Given the description of an element on the screen output the (x, y) to click on. 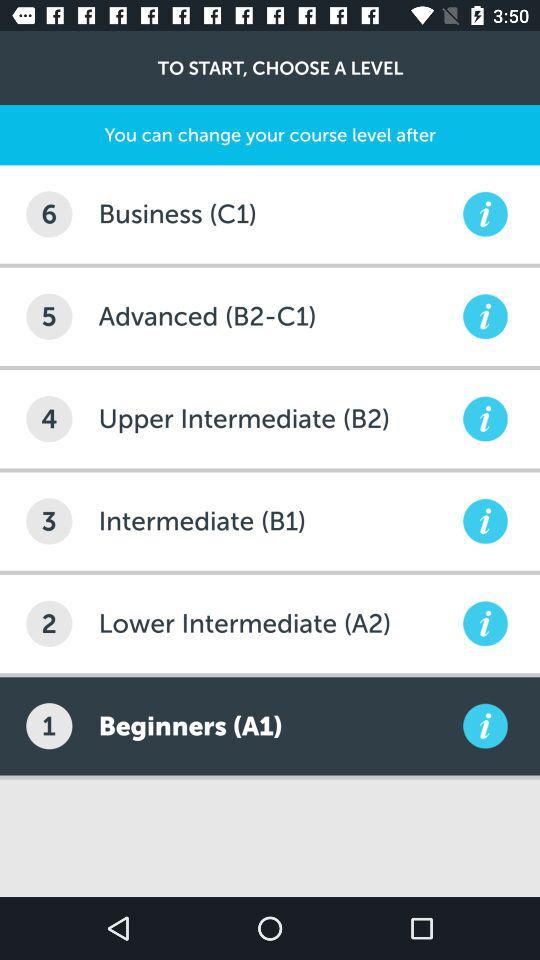
more information (485, 214)
